Given the description of an element on the screen output the (x, y) to click on. 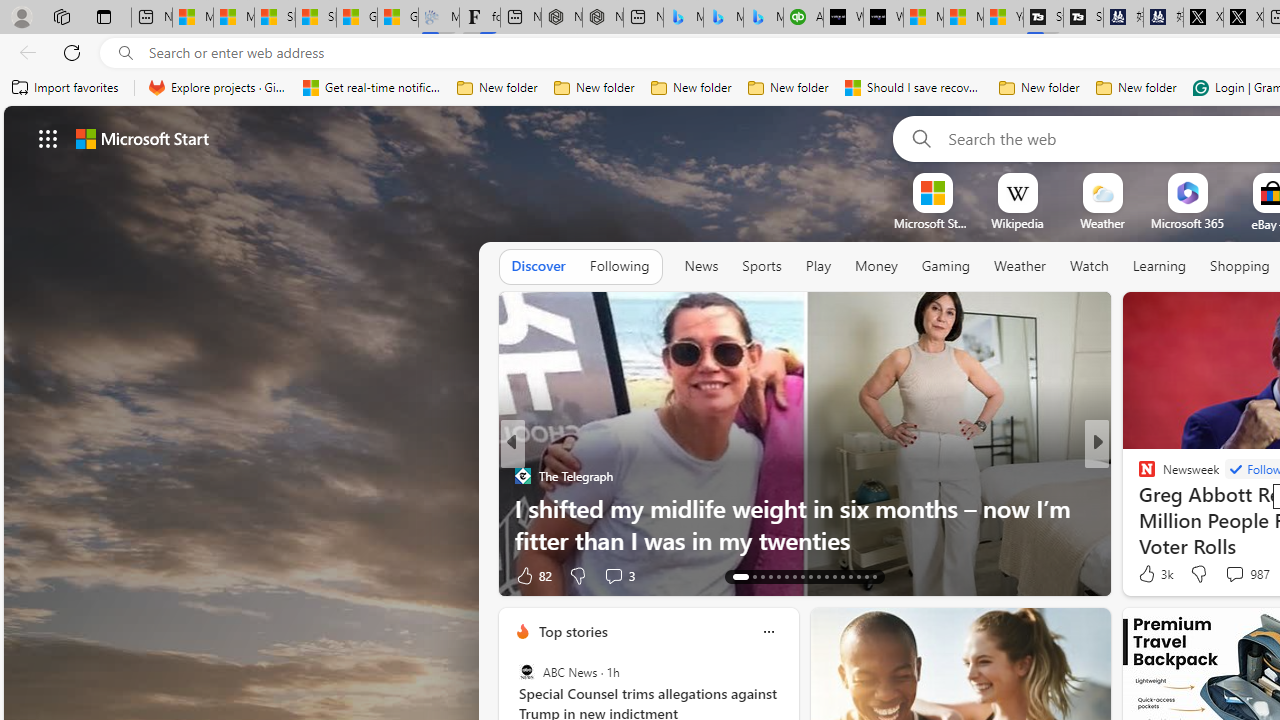
View comments 174 Comment (1234, 575)
View comments 987 Comment (1234, 573)
AutomationID: tab-27 (857, 576)
45 Like (1149, 574)
432 Like (1151, 574)
View comments 251 Comment (1247, 574)
AutomationID: tab-29 (874, 576)
